Given the description of an element on the screen output the (x, y) to click on. 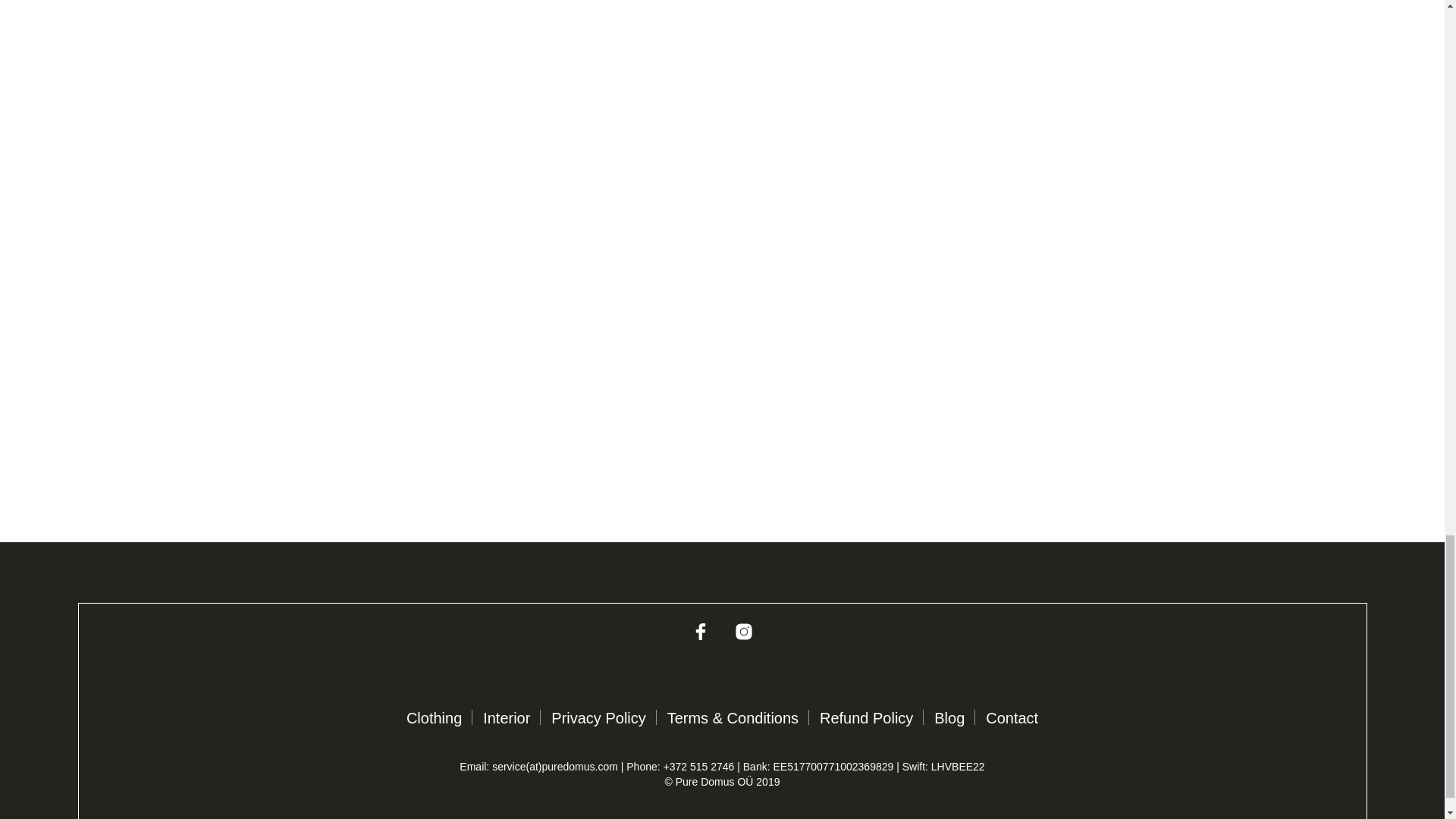
Interior (506, 718)
Contact (1011, 718)
Privacy Policy (598, 718)
Blog (948, 718)
Clothing (433, 718)
Refund Policy (865, 718)
